Given the description of an element on the screen output the (x, y) to click on. 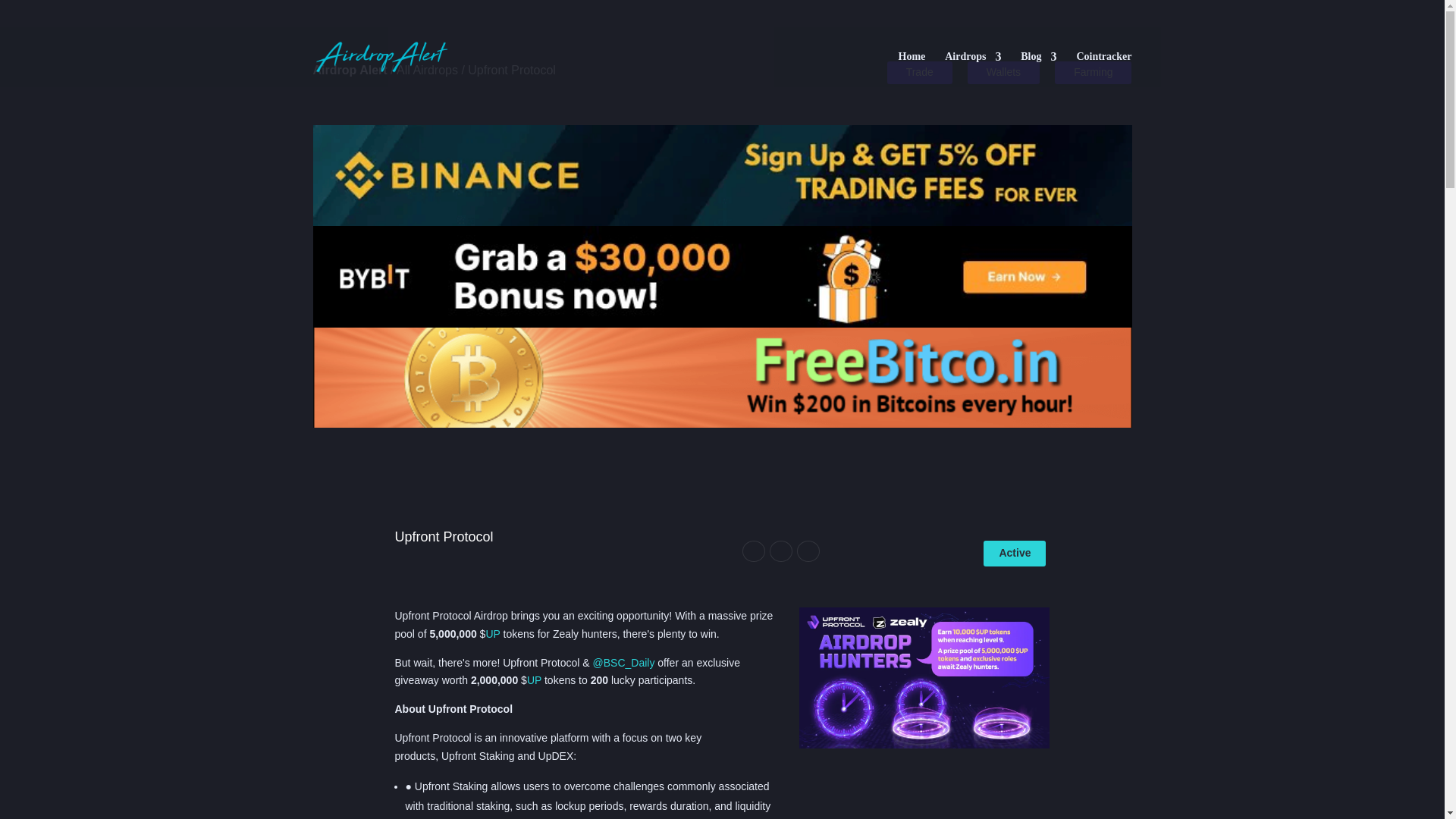
Airdrops (972, 68)
Cointracker (1103, 68)
Wallets (1003, 72)
Airdrop Alert (350, 69)
Blog (1038, 68)
UP (534, 680)
Blast-Mainnet5555 (924, 677)
Farming (1092, 72)
UP (491, 633)
All Airdrops (427, 69)
